Given the description of an element on the screen output the (x, y) to click on. 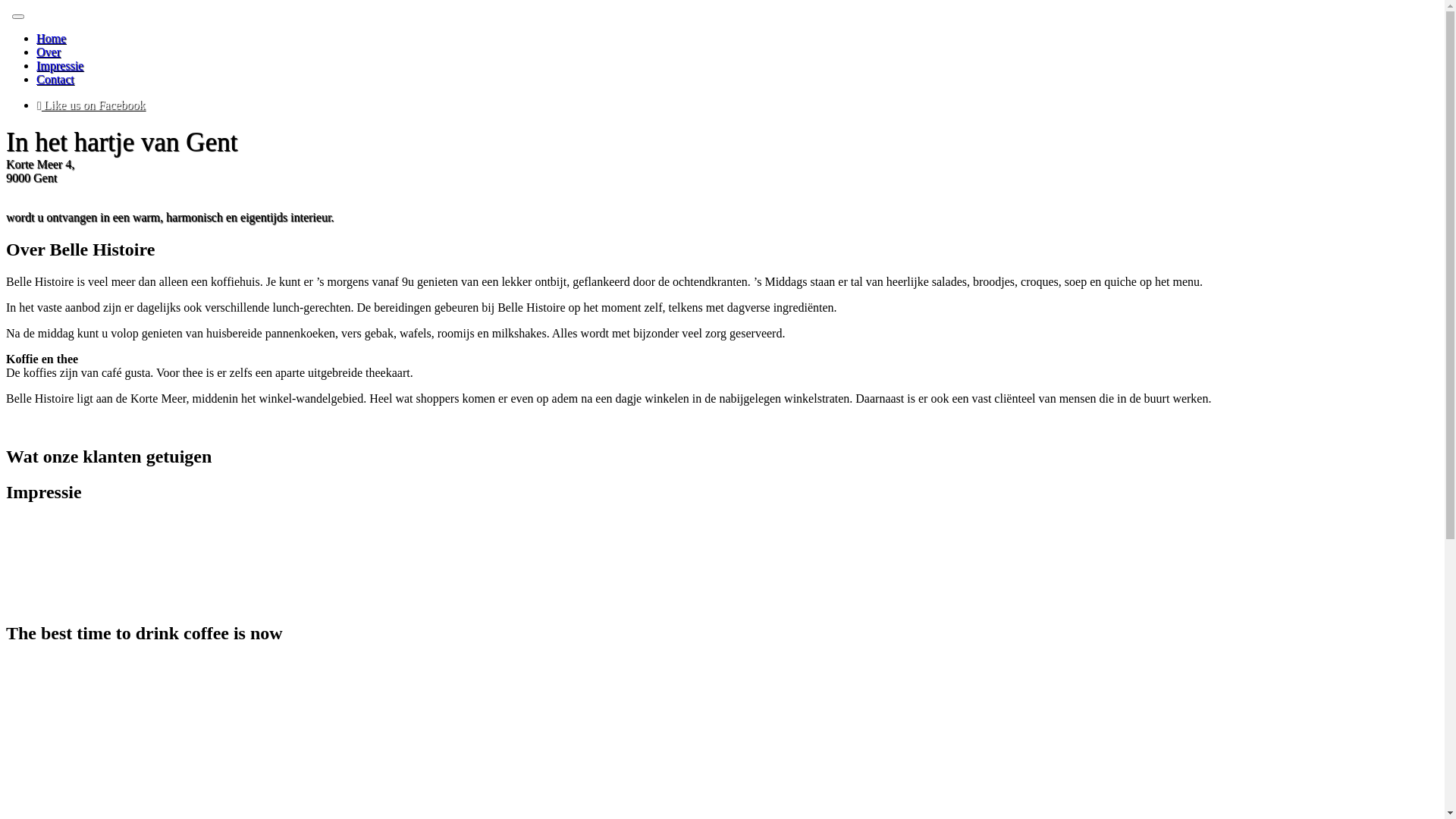
Contact Element type: text (55, 78)
Like us on Facebook Element type: text (90, 104)
Home Element type: text (50, 37)
Impressie Element type: text (59, 65)
Over Element type: text (48, 51)
Toggle navigation Element type: text (18, 16)
